Given the description of an element on the screen output the (x, y) to click on. 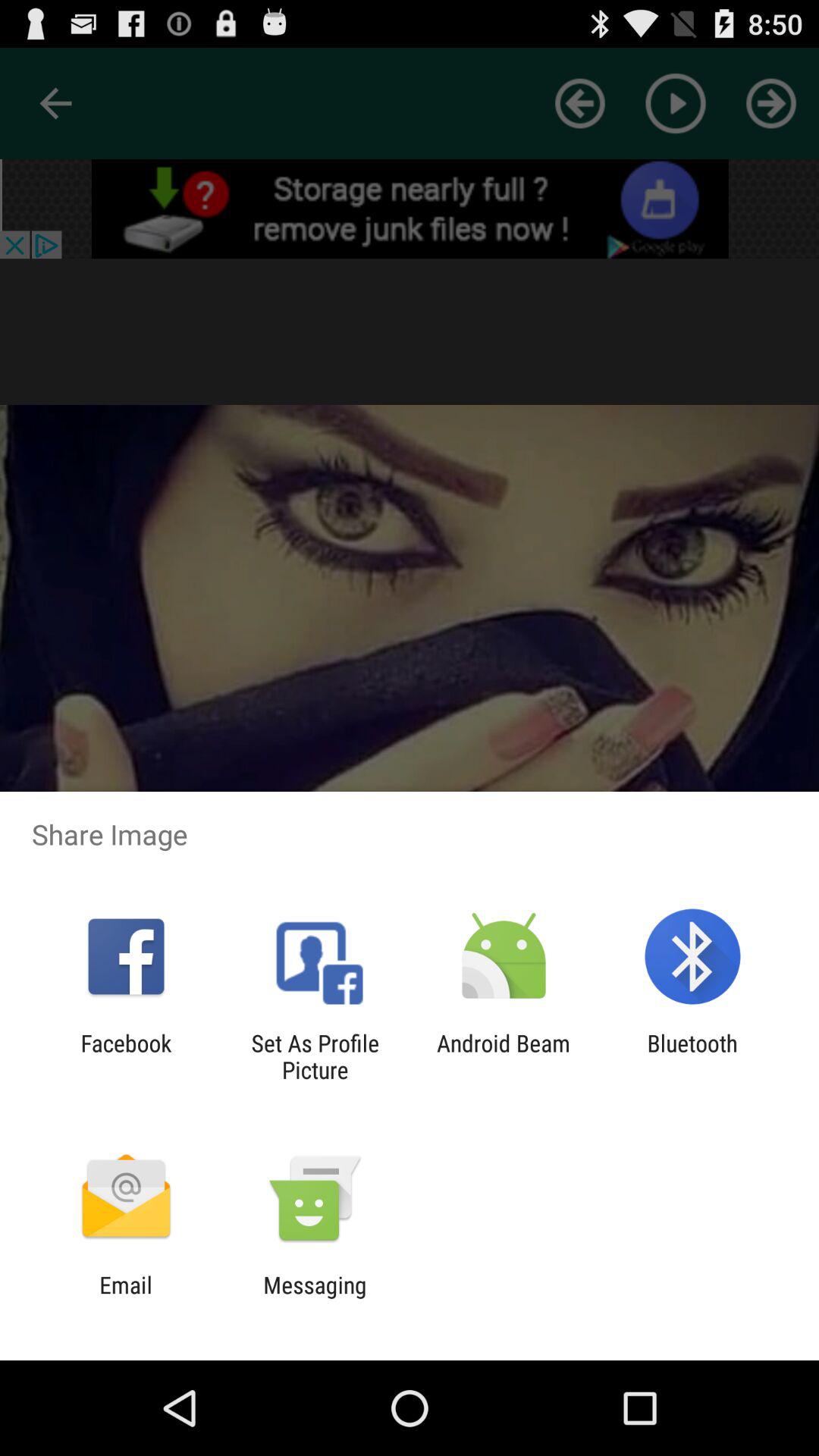
choose app next to email app (314, 1298)
